Given the description of an element on the screen output the (x, y) to click on. 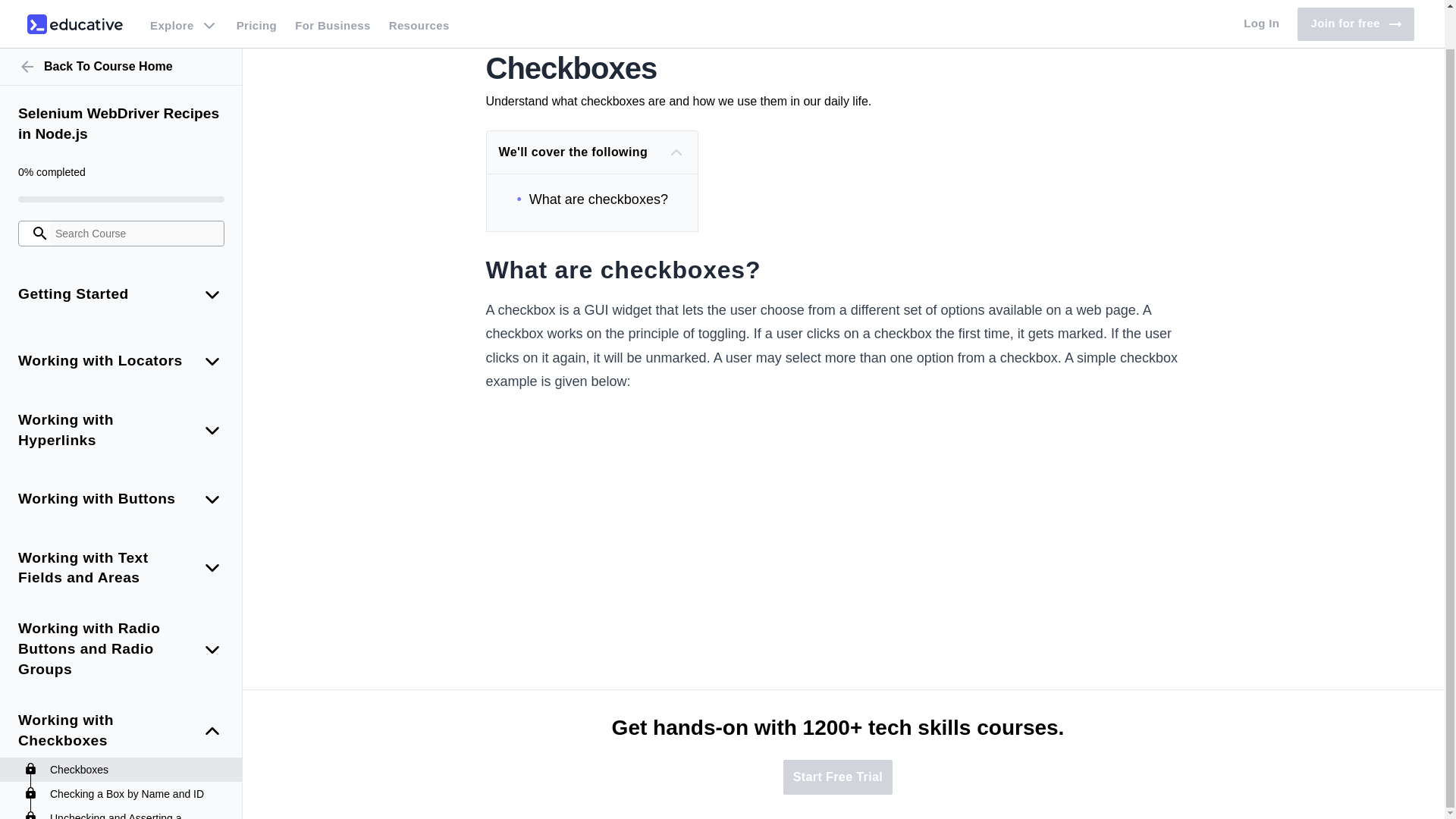
Selenium WebDriver Recipes in Node.js (121, 83)
For Business (332, 3)
Log In (1261, 3)
Pricing (256, 3)
Explore (184, 3)
Resources (419, 3)
Back To Course Home (121, 25)
